Given the description of an element on the screen output the (x, y) to click on. 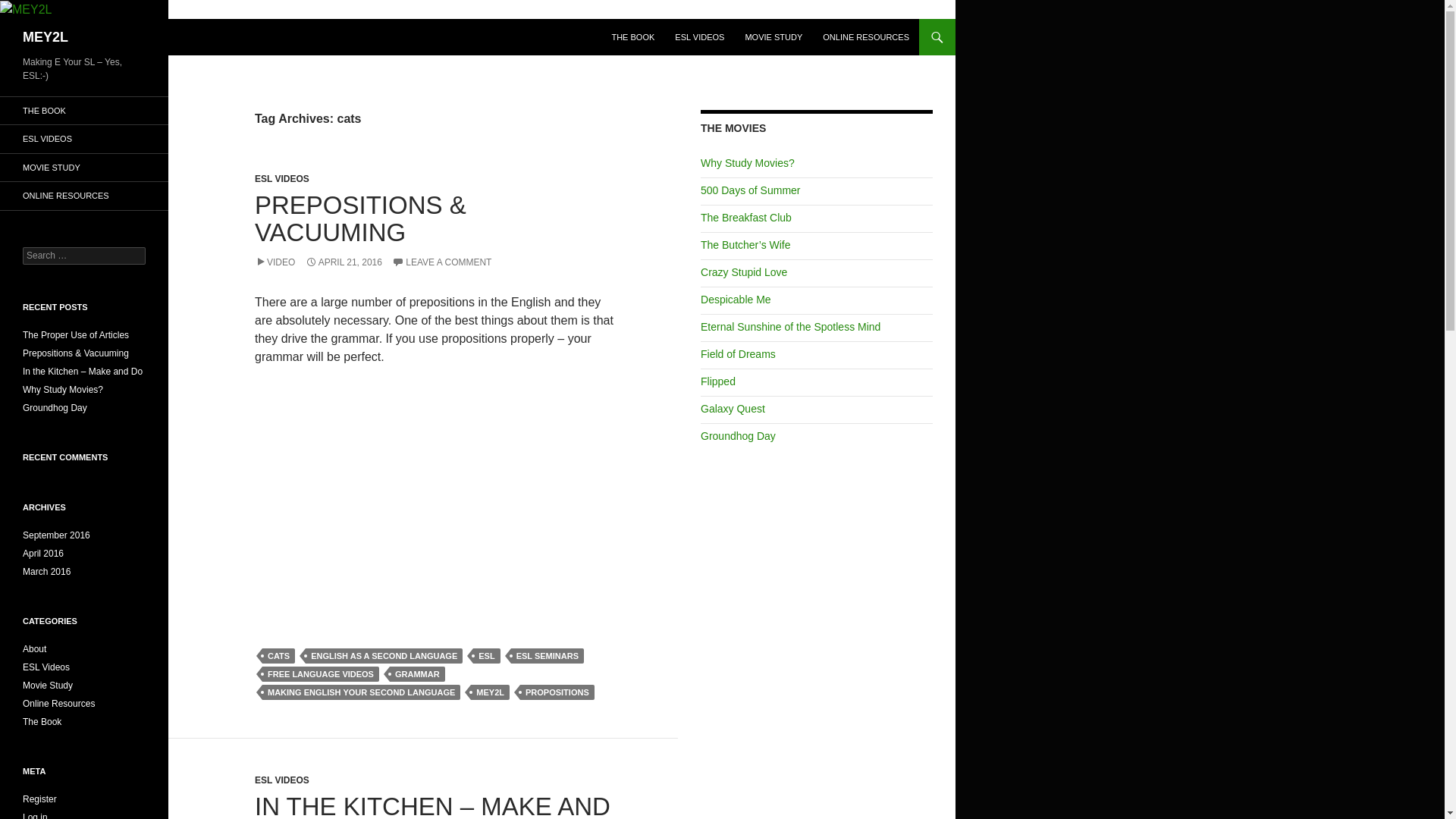
CATS (278, 655)
ESL VIDEOS (699, 36)
MEY2L (45, 36)
LEAVE A COMMENT (441, 262)
ESL VIDEOS (281, 178)
GRAMMAR (417, 673)
VIDEO (274, 262)
